Given the description of an element on the screen output the (x, y) to click on. 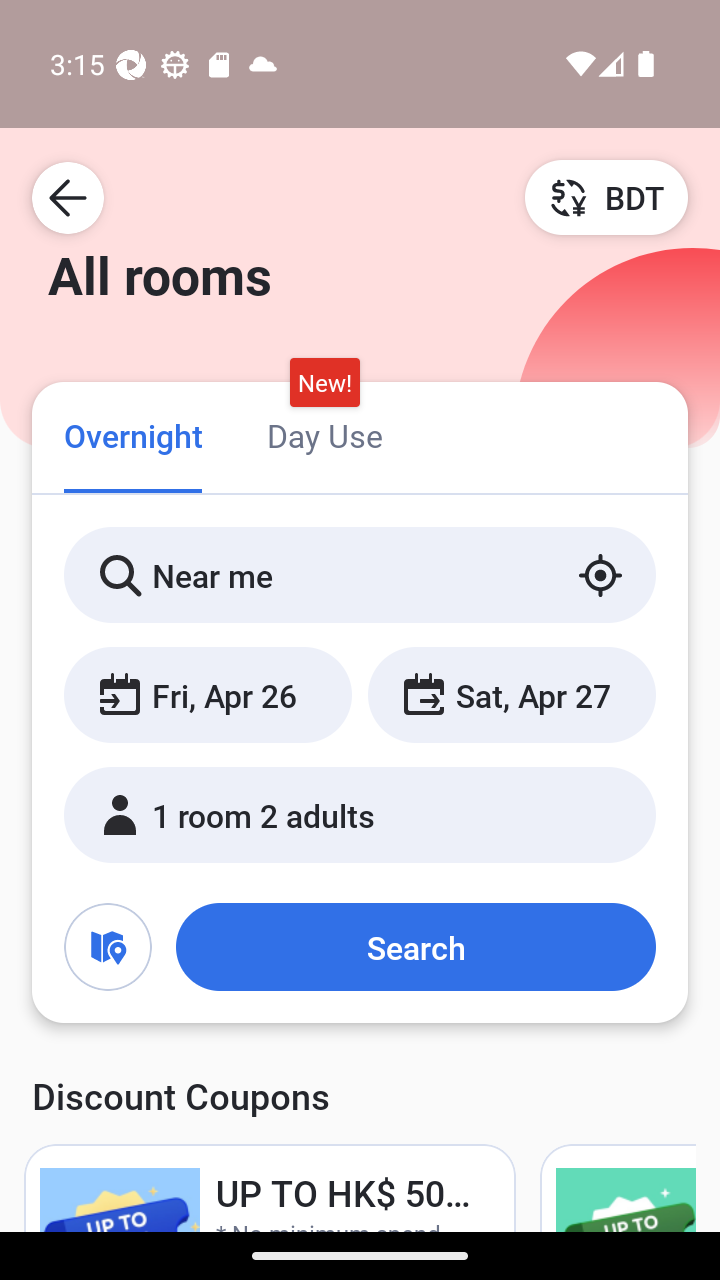
BDT (606, 197)
New! (324, 383)
Day Use (324, 434)
Near me (359, 575)
Fri, Apr 26 (208, 694)
Sat, Apr 27 (511, 694)
1 room 2 adults (359, 814)
Search (415, 946)
